Given the description of an element on the screen output the (x, y) to click on. 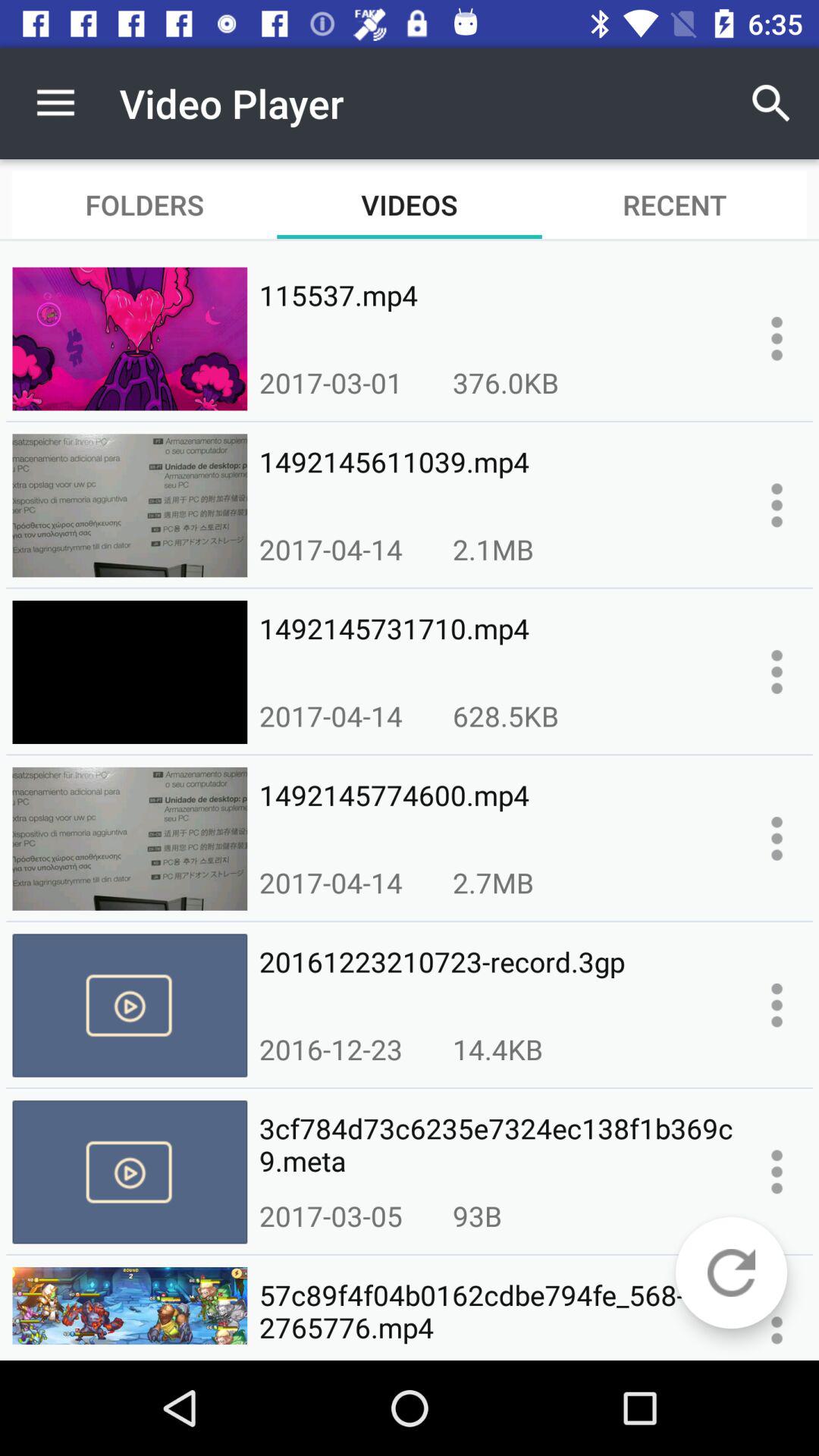
select item below the 20161223210723-record.3gp (497, 1049)
